Given the description of an element on the screen output the (x, y) to click on. 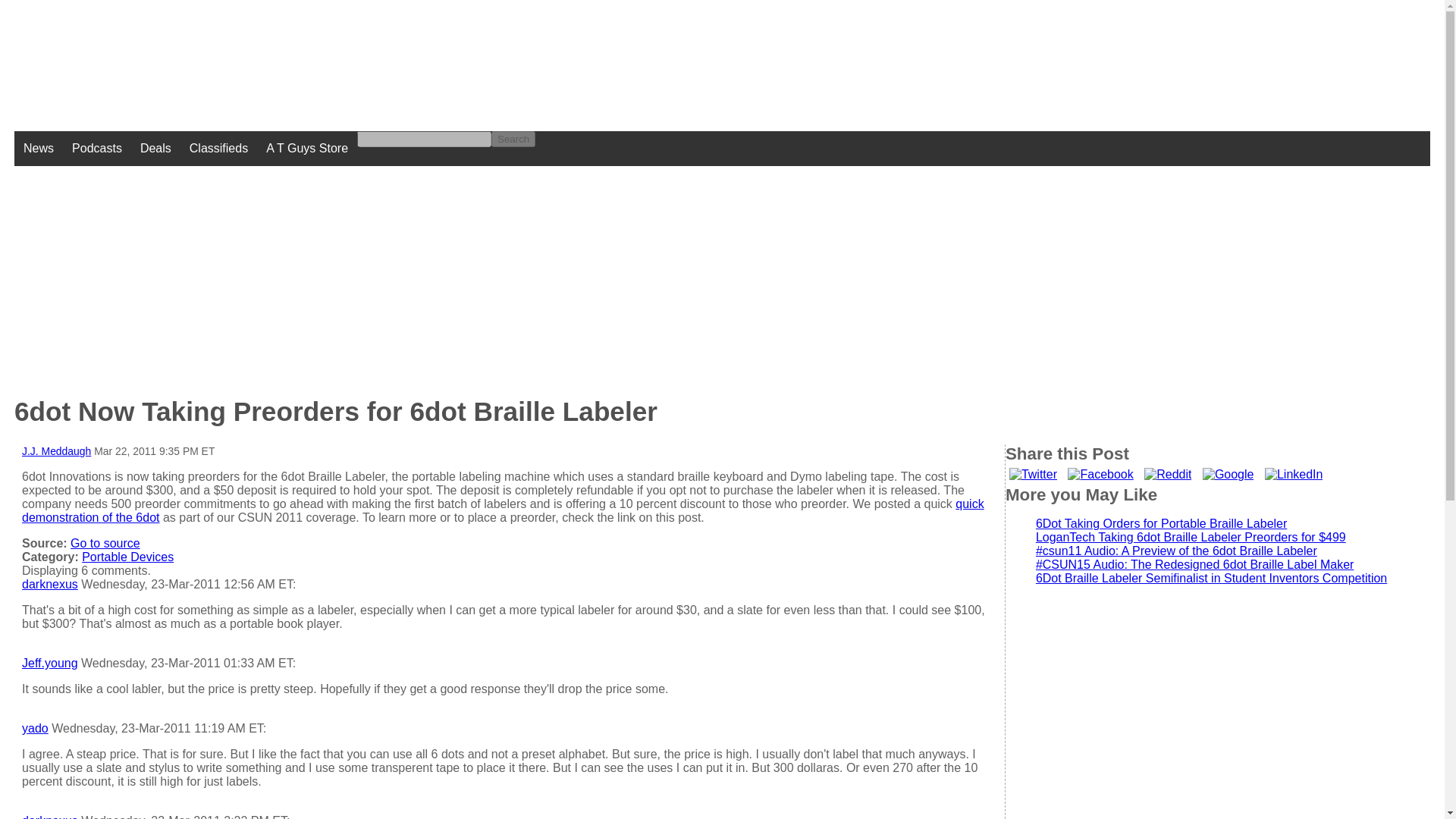
Classifieds (218, 148)
News (38, 148)
Podcasts (96, 148)
Jeff.young (49, 662)
Search (513, 139)
Go to source (104, 543)
darknexus (49, 816)
J.J. Meddaugh (55, 451)
A T Guys Store (306, 148)
darknexus (49, 584)
yado (34, 727)
Portable Devices (127, 556)
6Dot Taking Orders for Portable Braille Labeler (1161, 522)
Deals (155, 148)
